Given the description of an element on the screen output the (x, y) to click on. 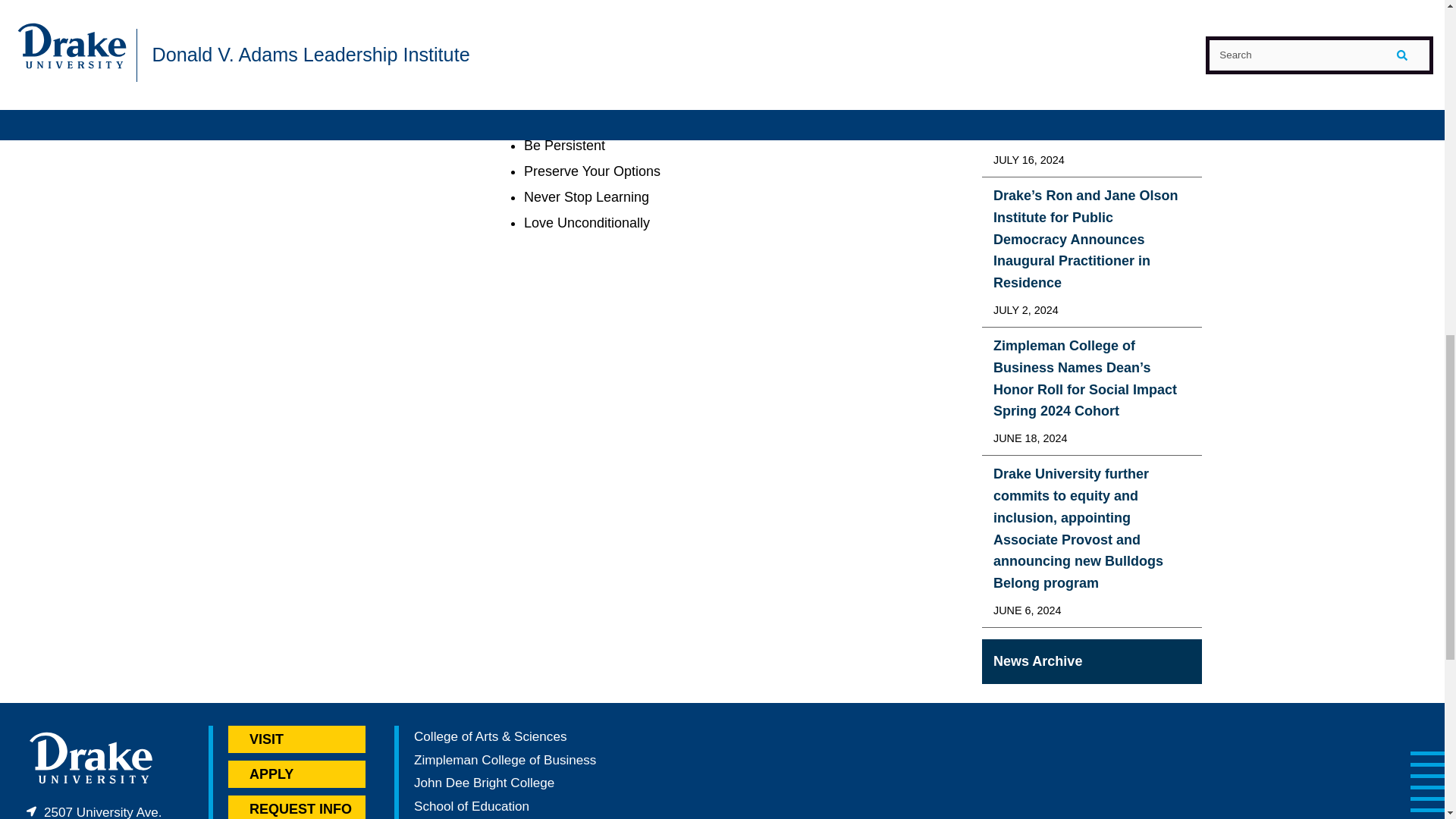
2507 University Ave (100, 812)
